Given the description of an element on the screen output the (x, y) to click on. 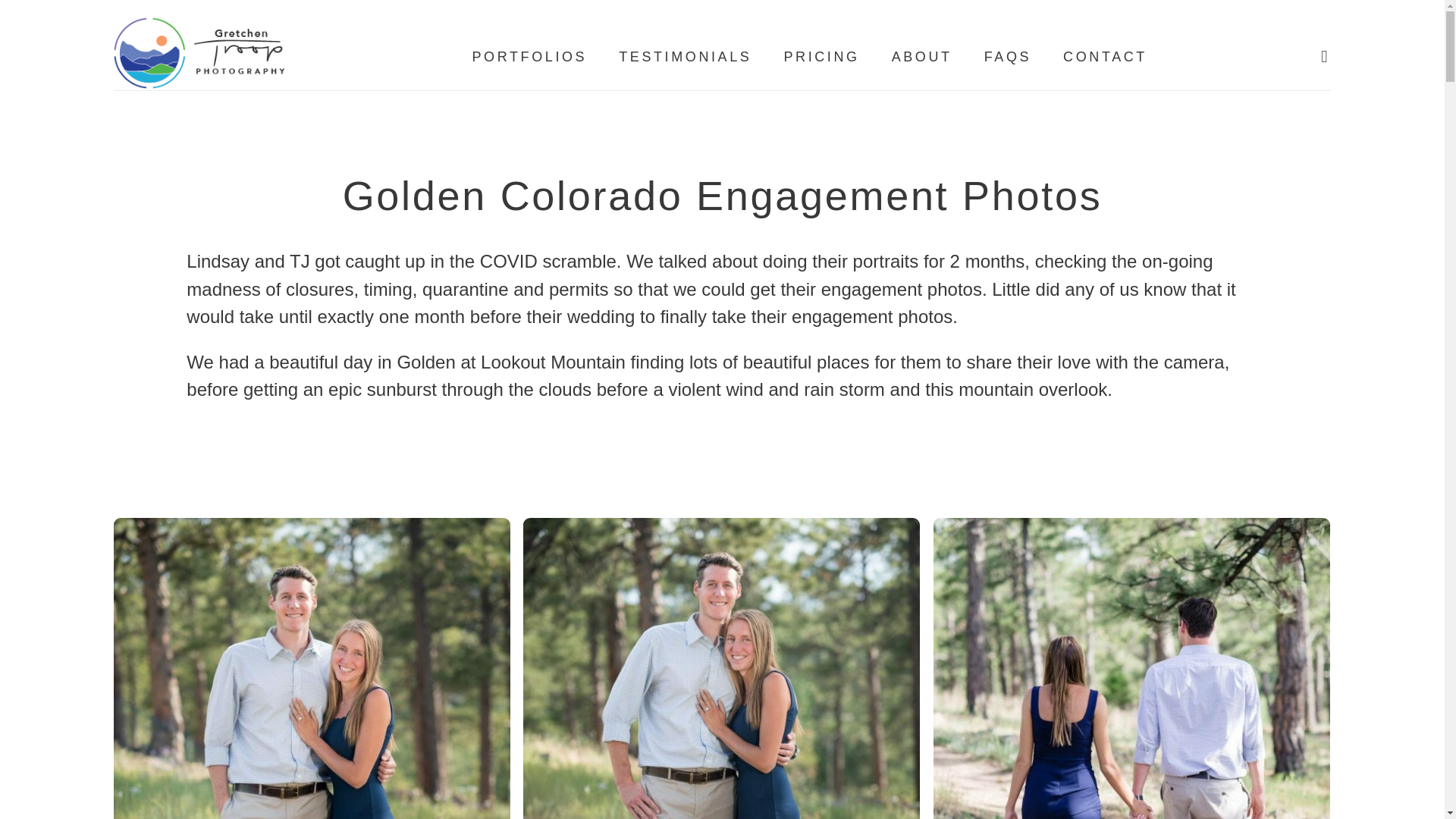
PRICING (821, 56)
FAQS (1007, 56)
TESTIMONIALS (684, 56)
ABOUT (921, 56)
CONTACT (1104, 56)
PORTFOLIOS (528, 56)
